Given the description of an element on the screen output the (x, y) to click on. 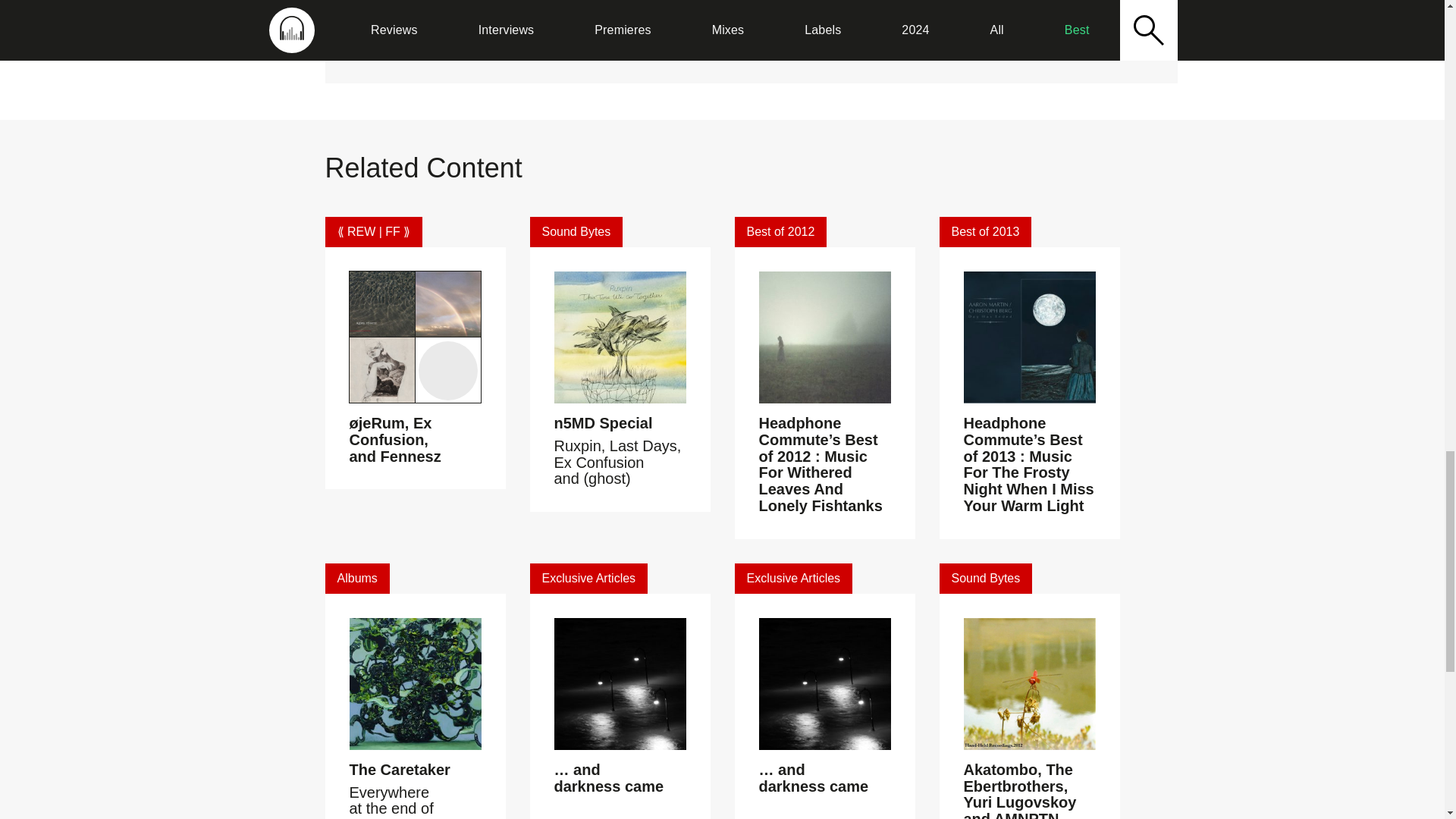
Best of 2013 (984, 232)
n5md.com (489, 37)
Exclusive Articles (792, 578)
n5MD Special (602, 422)
Albums (356, 578)
Sound Bytes (985, 578)
Best of 2012 (780, 232)
Sound Bytes (576, 232)
Exclusive Articles (588, 578)
The Caretaker (399, 769)
